Given the description of an element on the screen output the (x, y) to click on. 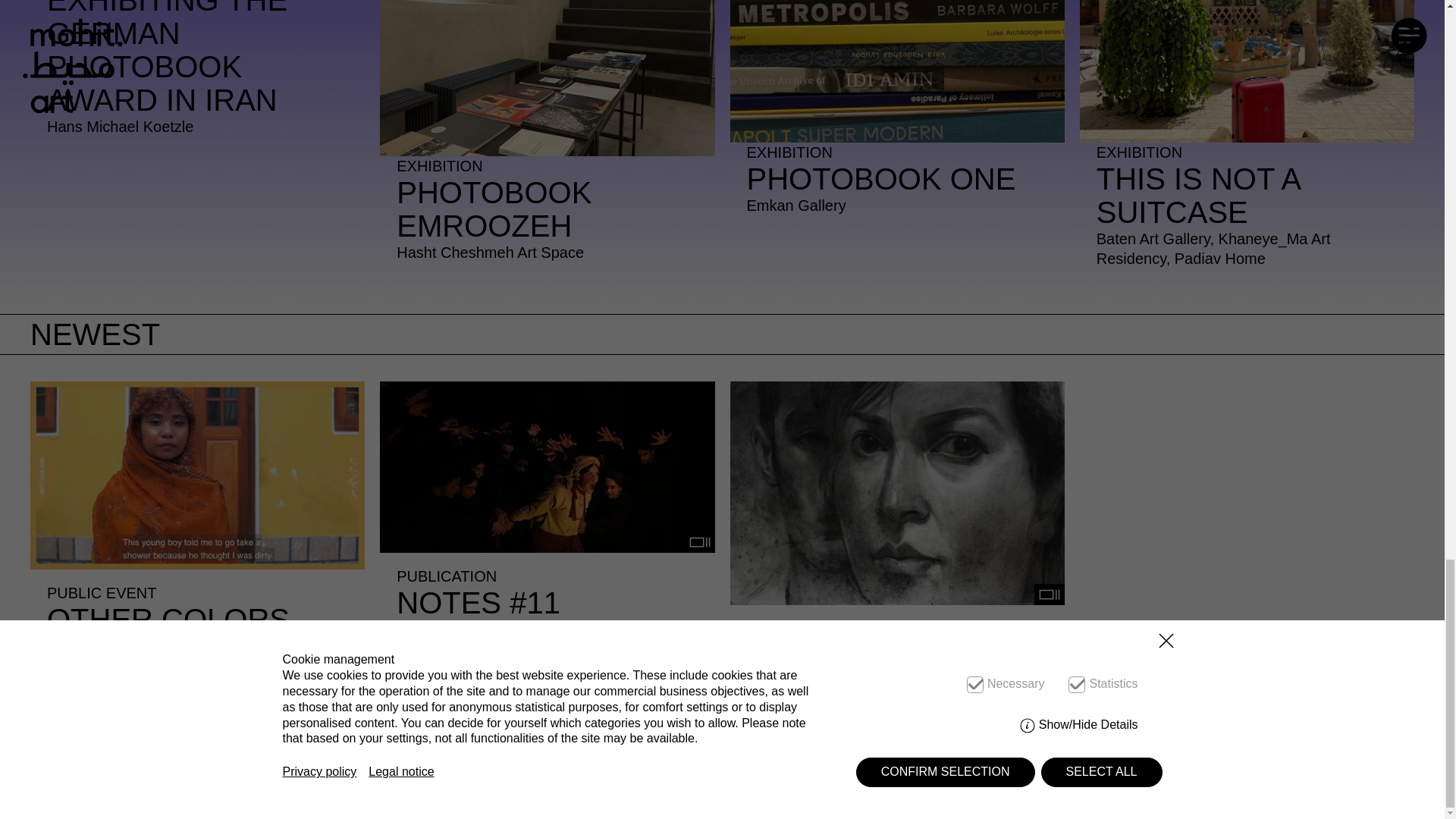
multi.part Publication (896, 114)
multi.part Publication (699, 541)
Legal notice (1048, 594)
Privacy policy (1014, 799)
PHOTOBOOK EMROOZEH (1117, 799)
Other Colors (547, 138)
Cookie settings (547, 138)
This Is Not a Suitcase (197, 564)
Photobook one (1233, 799)
SHARE (1246, 140)
